Given the description of an element on the screen output the (x, y) to click on. 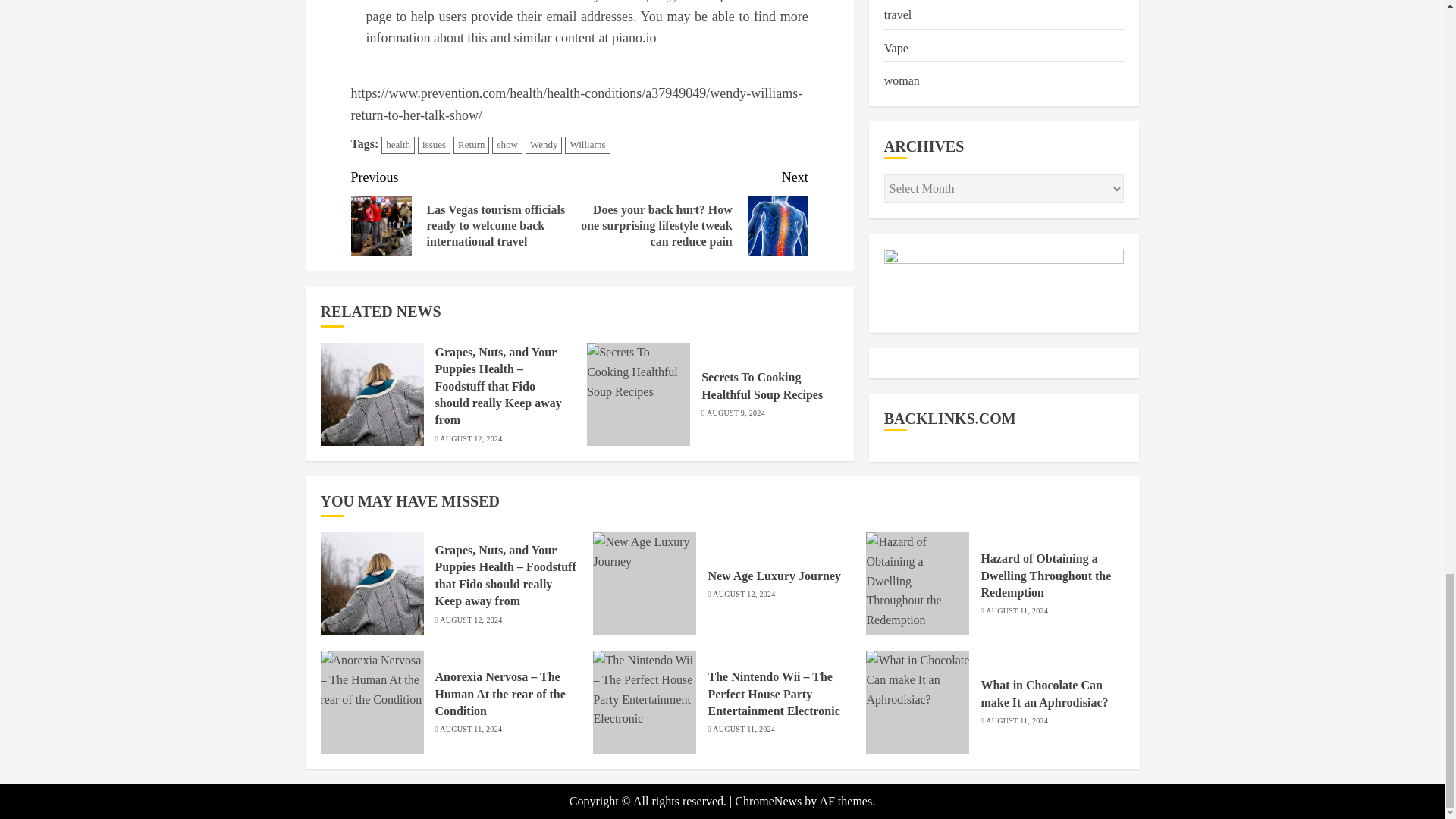
show (506, 144)
Secrets To Cooking Healthful Soup Recipes (761, 386)
AUGUST 12, 2024 (470, 439)
What in Chocolate Can make It an Aphrodisiac? (917, 701)
Wendy (543, 144)
Hazard of Obtaining a Dwelling Throughout the Redemption (917, 583)
Secrets To Cooking Healthful Soup Recipes (638, 394)
